Given the description of an element on the screen output the (x, y) to click on. 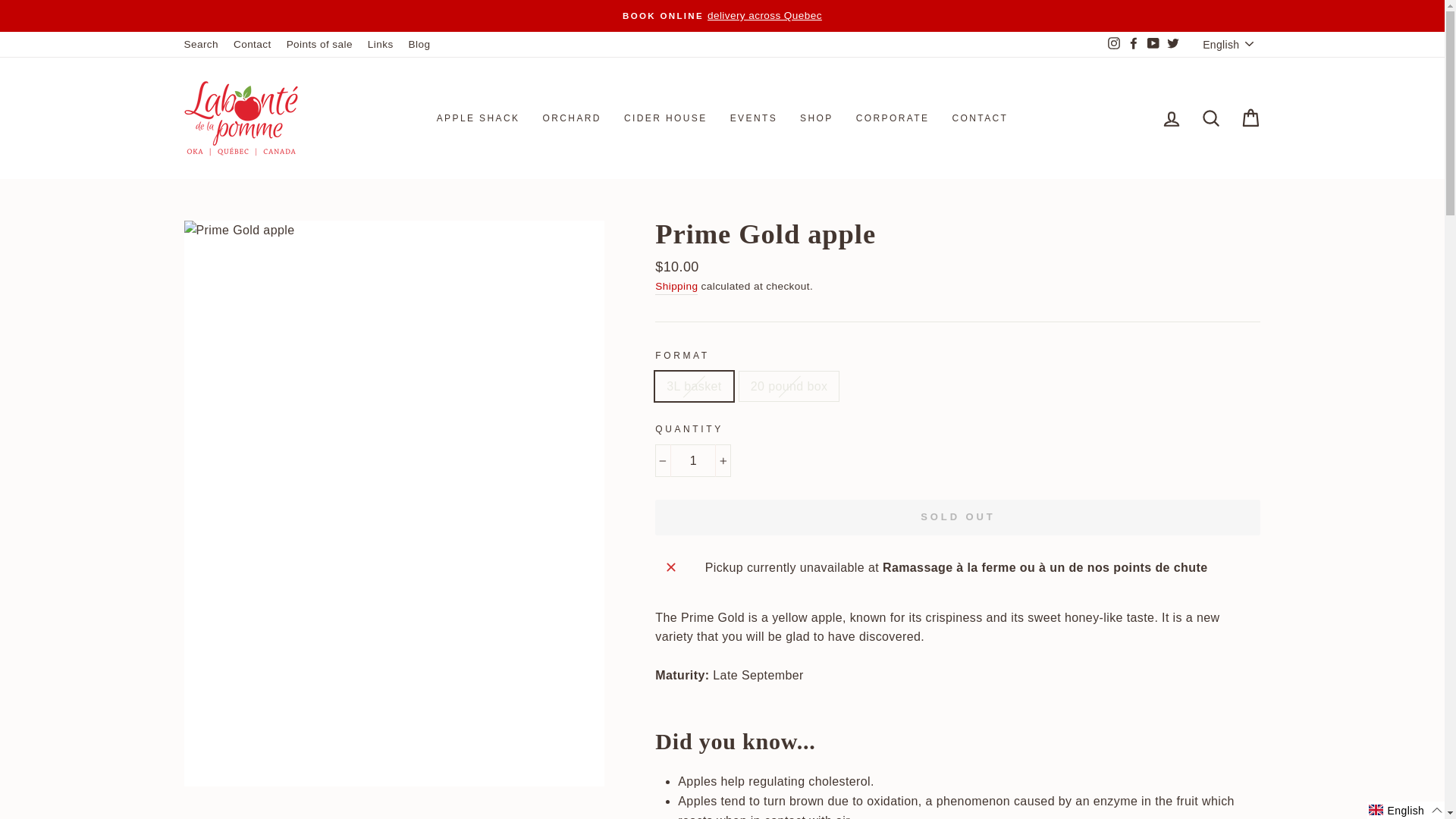
1 (692, 460)
